Given the description of an element on the screen output the (x, y) to click on. 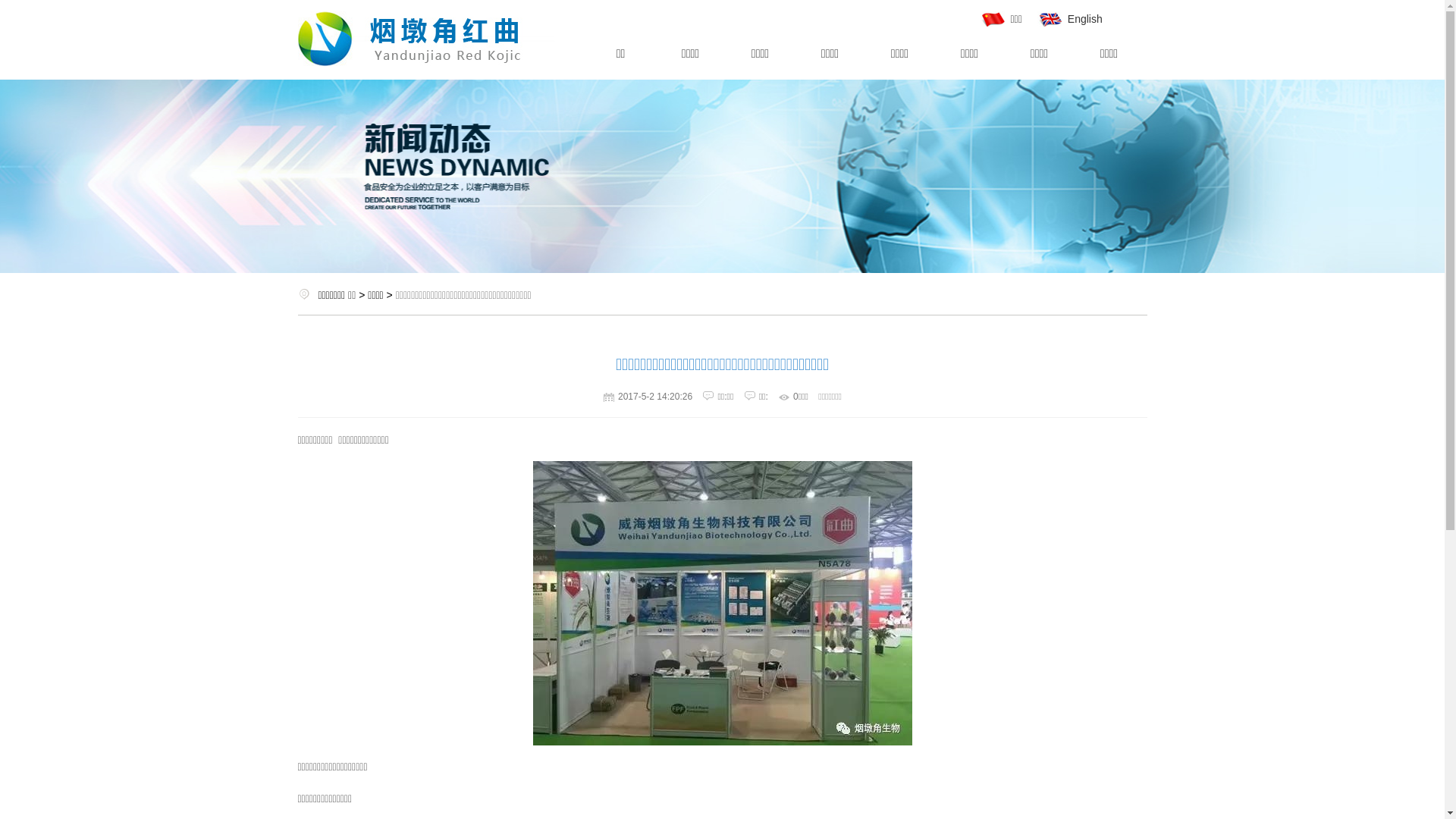
English Element type: text (1069, 18)
1.jpg Element type: hover (721, 603)
